Given the description of an element on the screen output the (x, y) to click on. 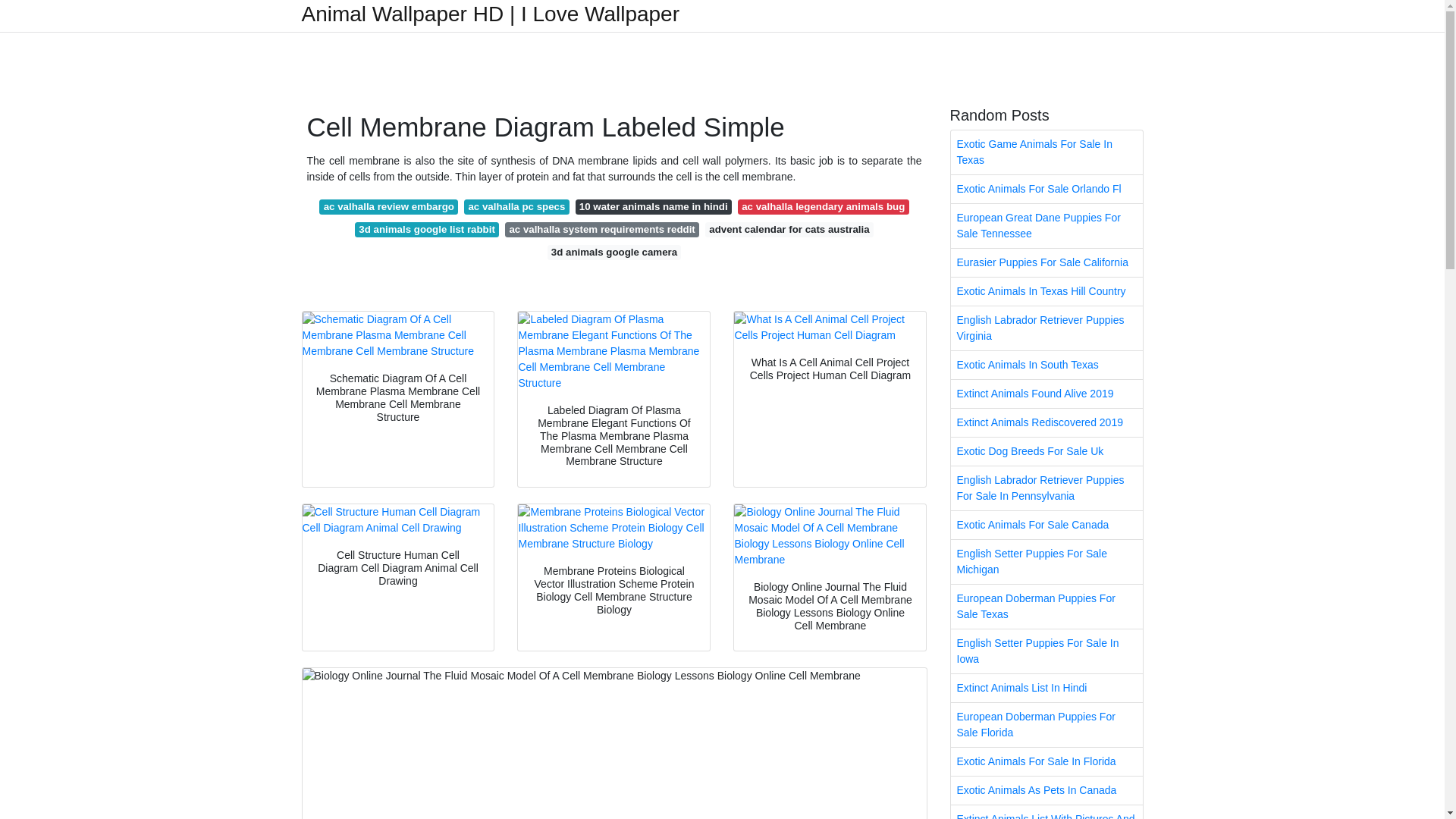
Exotic Animals In Texas Hill Country (1046, 291)
ac valhalla pc specs (516, 206)
ac valhalla system requirements reddit (601, 229)
3d animals google camera (614, 252)
Exotic Animals In South Texas (1046, 365)
3d animals google list rabbit (427, 229)
Exotic Game Animals For Sale In Texas (1046, 152)
Eurasier Puppies For Sale California (1046, 262)
Extinct Animals Rediscovered 2019 (1046, 422)
ac valhalla legendary animals bug (823, 206)
Exotic Animals For Sale Orlando Fl (1046, 189)
European Great Dane Puppies For Sale Tennessee (1046, 225)
Extinct Animals Found Alive 2019 (1046, 393)
advent calendar for cats australia (788, 229)
Exotic Dog Breeds For Sale Uk (1046, 451)
